Given the description of an element on the screen output the (x, y) to click on. 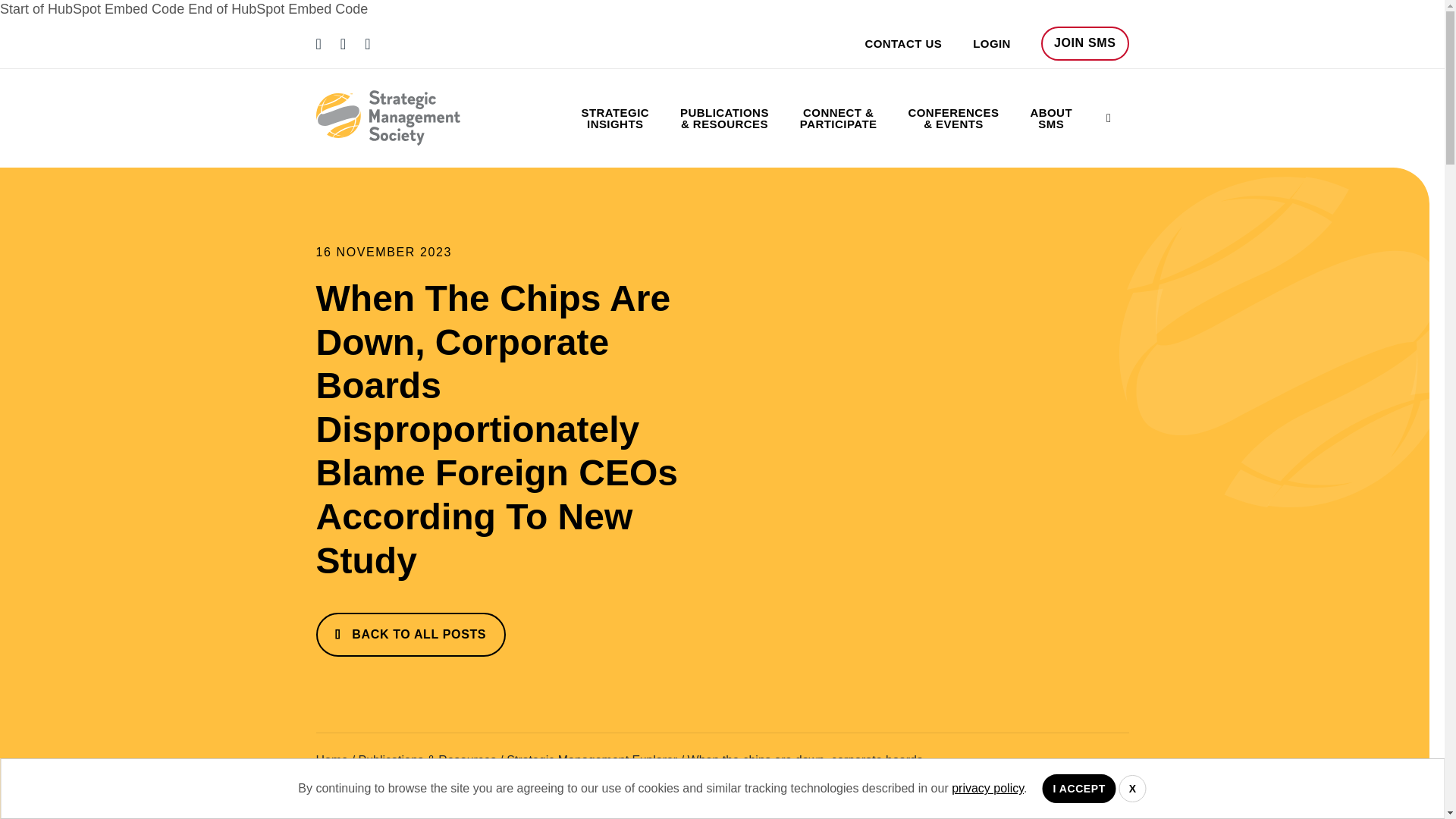
X (1133, 788)
I ACCEPT (1078, 788)
LOGIN (976, 43)
privacy policy (987, 788)
CONTACT US (888, 43)
logo-sms (387, 118)
STRATEGIC INSIGHTS (614, 118)
JOIN SMS (1084, 42)
